Given the description of an element on the screen output the (x, y) to click on. 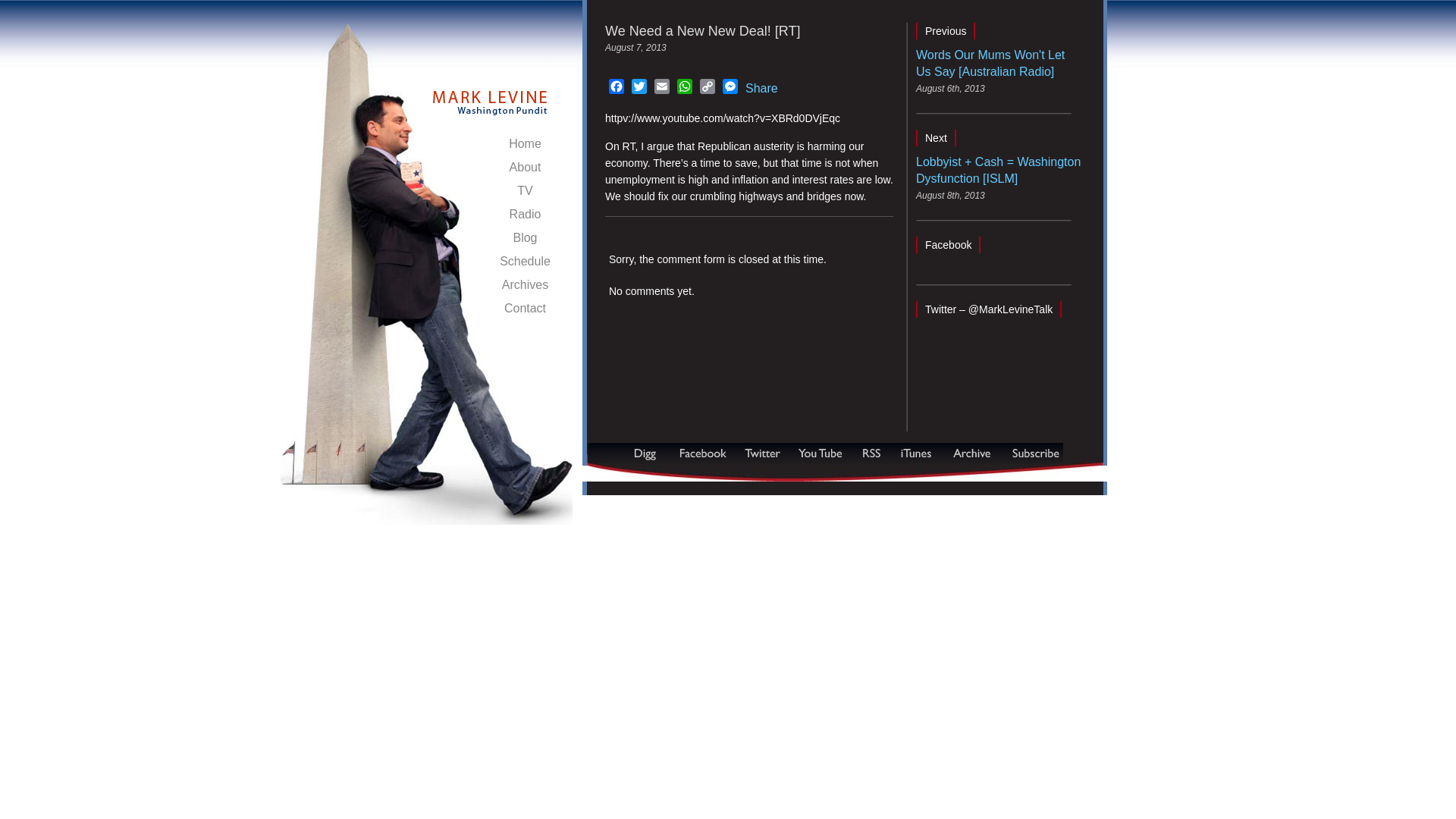
Facebook (616, 87)
Twitter (638, 87)
Email (661, 87)
Messenger (730, 87)
Digg Mark Levine (647, 453)
Archive (970, 453)
Twitter (638, 87)
Radio (524, 216)
YouTube (820, 453)
Email (661, 87)
Mark Levine's Inside Scoop (490, 94)
Archives (524, 286)
Find Mark Levine on Facebook (702, 453)
iTunes (915, 453)
Messenger (730, 87)
